Given the description of an element on the screen output the (x, y) to click on. 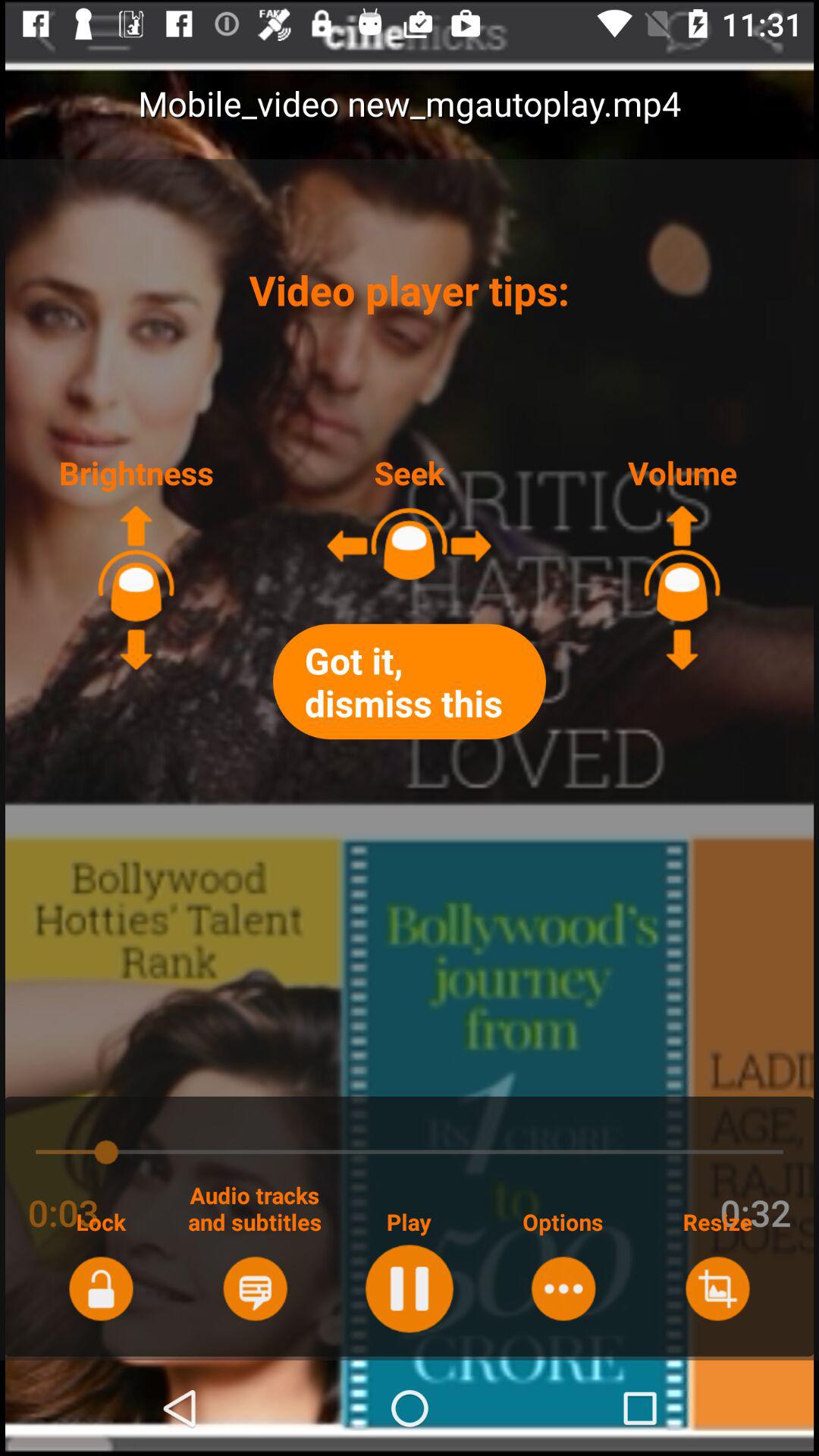
lock (100, 1288)
